Given the description of an element on the screen output the (x, y) to click on. 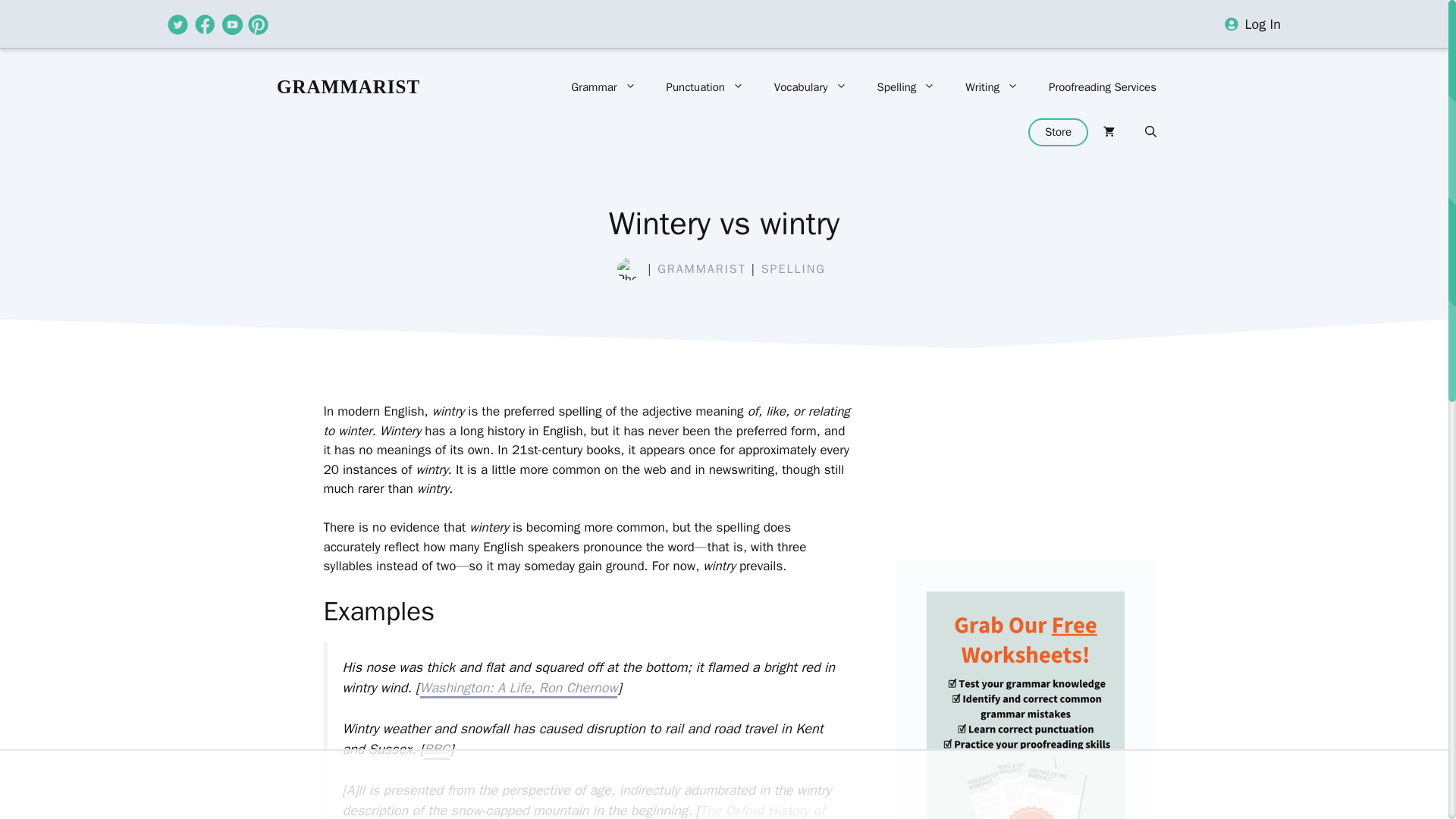
Grammar (603, 86)
GRAMMARIST (348, 86)
Punctuation (704, 86)
View your shopping cart (1108, 132)
Log In (1262, 23)
Vocabulary (809, 86)
